Given the description of an element on the screen output the (x, y) to click on. 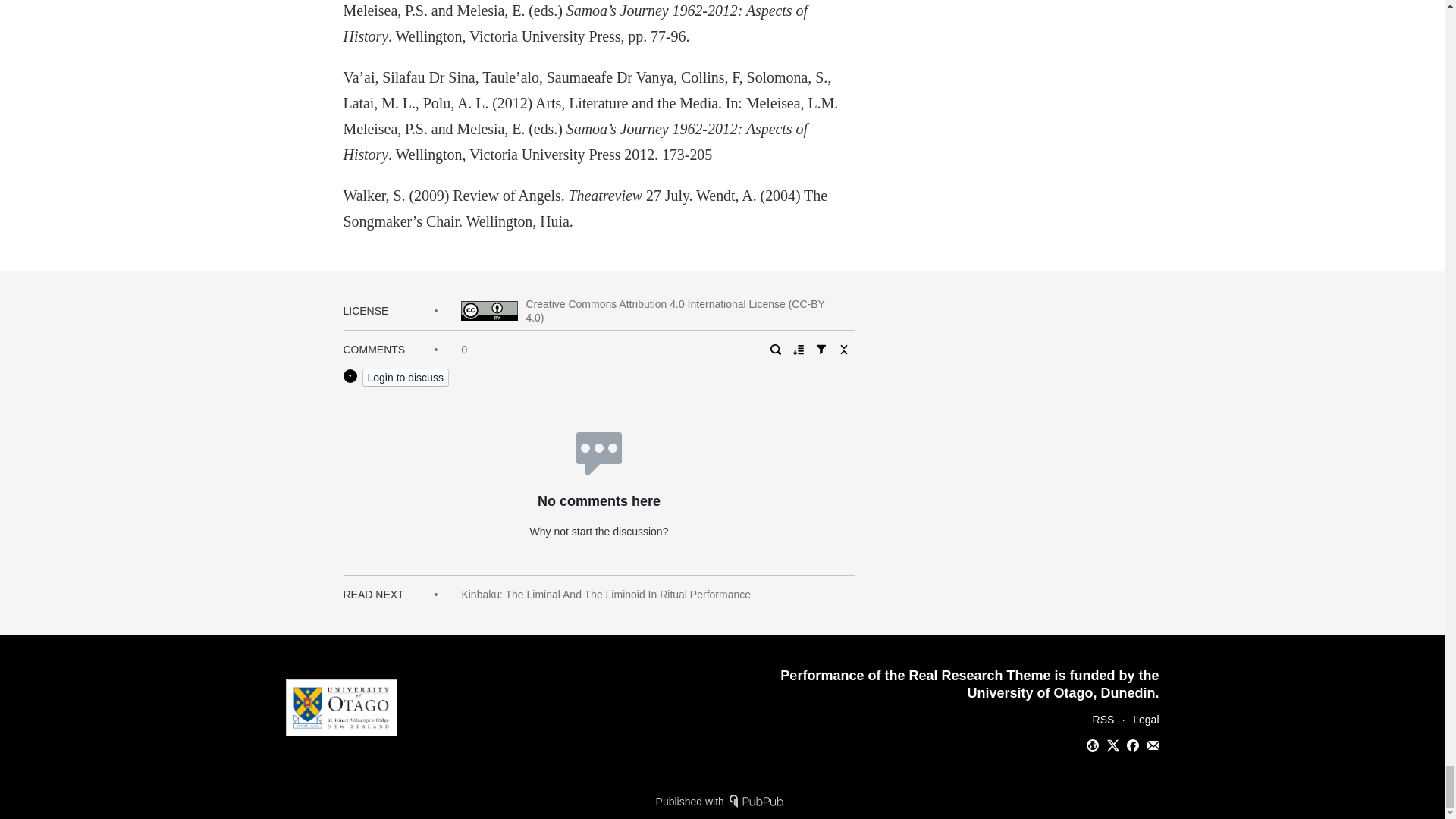
Login to discuss (405, 377)
Kinbaku: The Liminal And The Liminoid In Ritual Performance (606, 594)
RSS (1104, 719)
Legal (1145, 719)
